Given the description of an element on the screen output the (x, y) to click on. 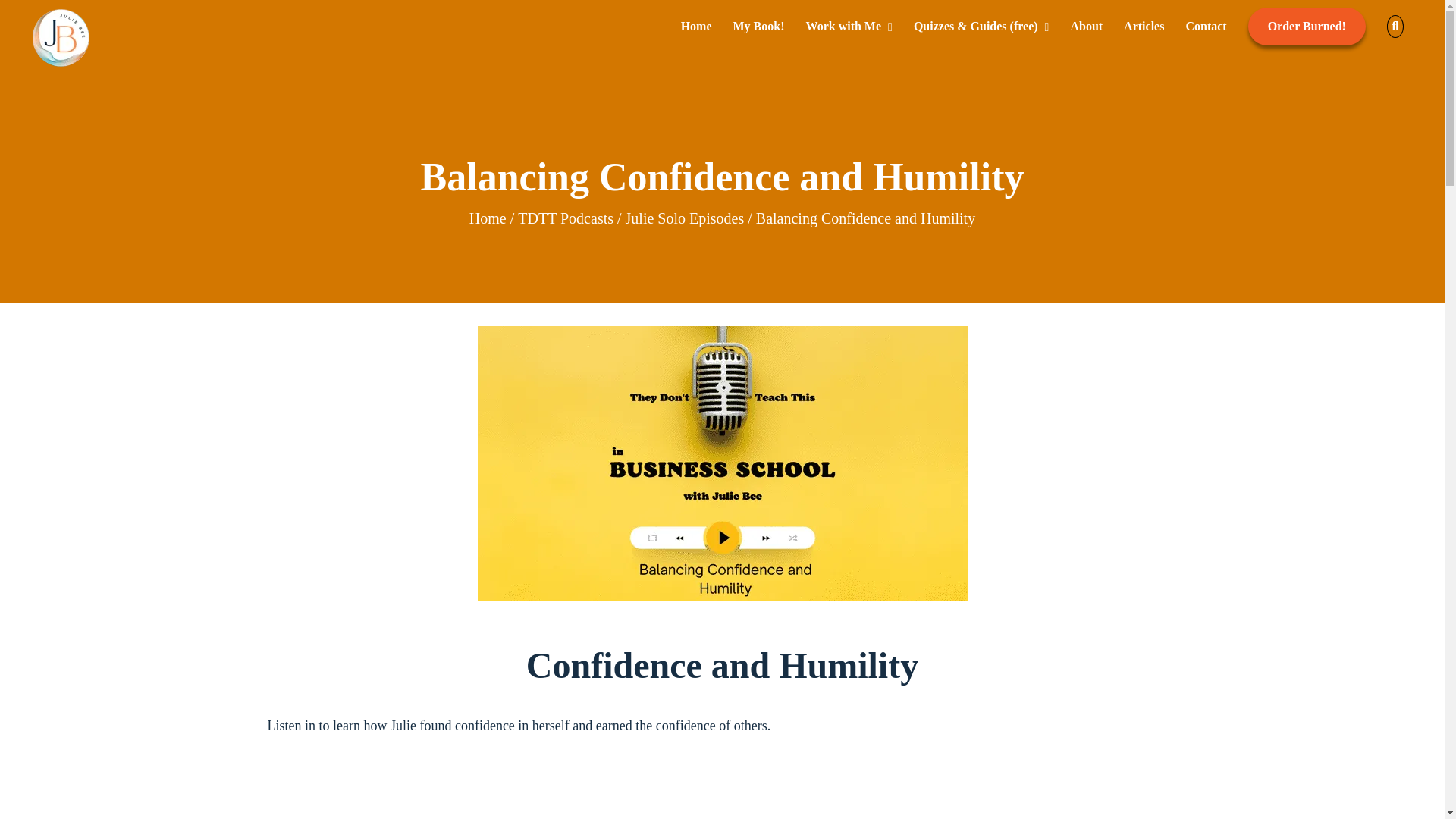
Articles (1143, 26)
Home (695, 26)
My Book! (758, 26)
TDTT Podcasts (565, 217)
Home (487, 217)
Contact (1205, 26)
Julie Solo Episodes (685, 217)
About (1086, 26)
Work with Me (848, 26)
Order Burned! (1306, 26)
